Given the description of an element on the screen output the (x, y) to click on. 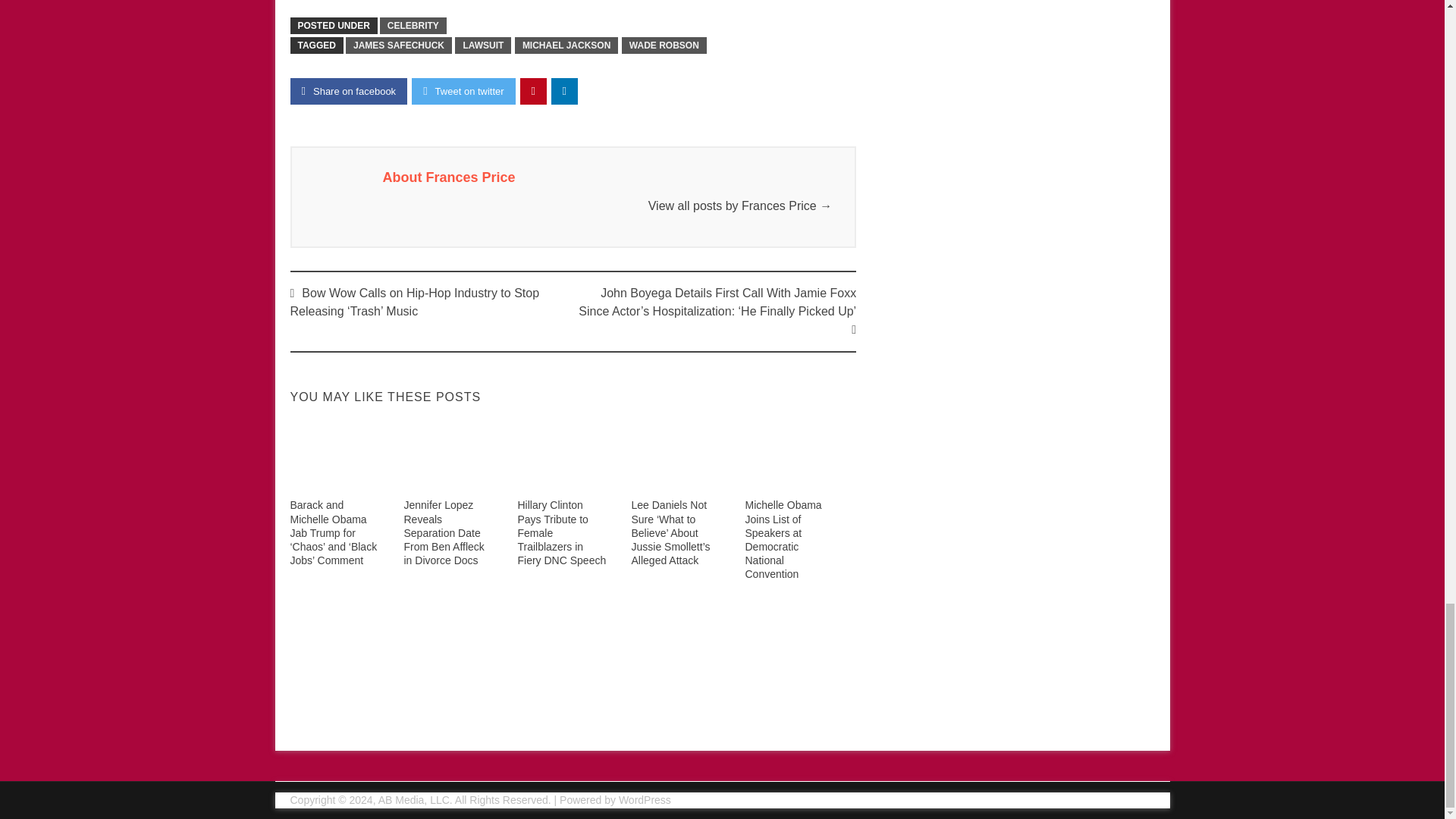
Tweet on twitter (463, 90)
WADE ROBSON (663, 45)
Share on facebook (348, 90)
MICHAEL JACKSON (566, 45)
LAWSUIT (482, 45)
CELEBRITY (413, 25)
JAMES SAFECHUCK (398, 45)
